Given the description of an element on the screen output the (x, y) to click on. 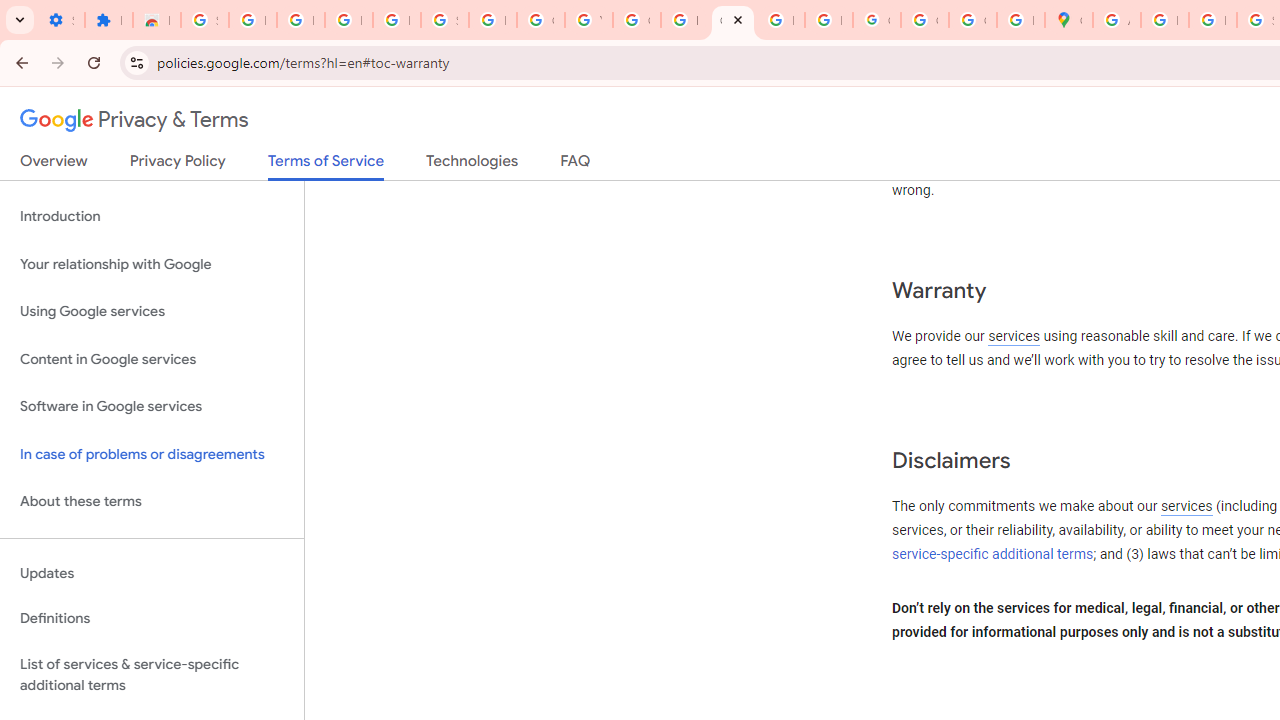
In case of problems or disagreements (152, 453)
List of services & service-specific additional terms (152, 674)
Delete photos & videos - Computer - Google Photos Help (300, 20)
Content in Google services (152, 358)
Learn how to find your photos - Google Photos Help (348, 20)
FAQ (575, 165)
